Given the description of an element on the screen output the (x, y) to click on. 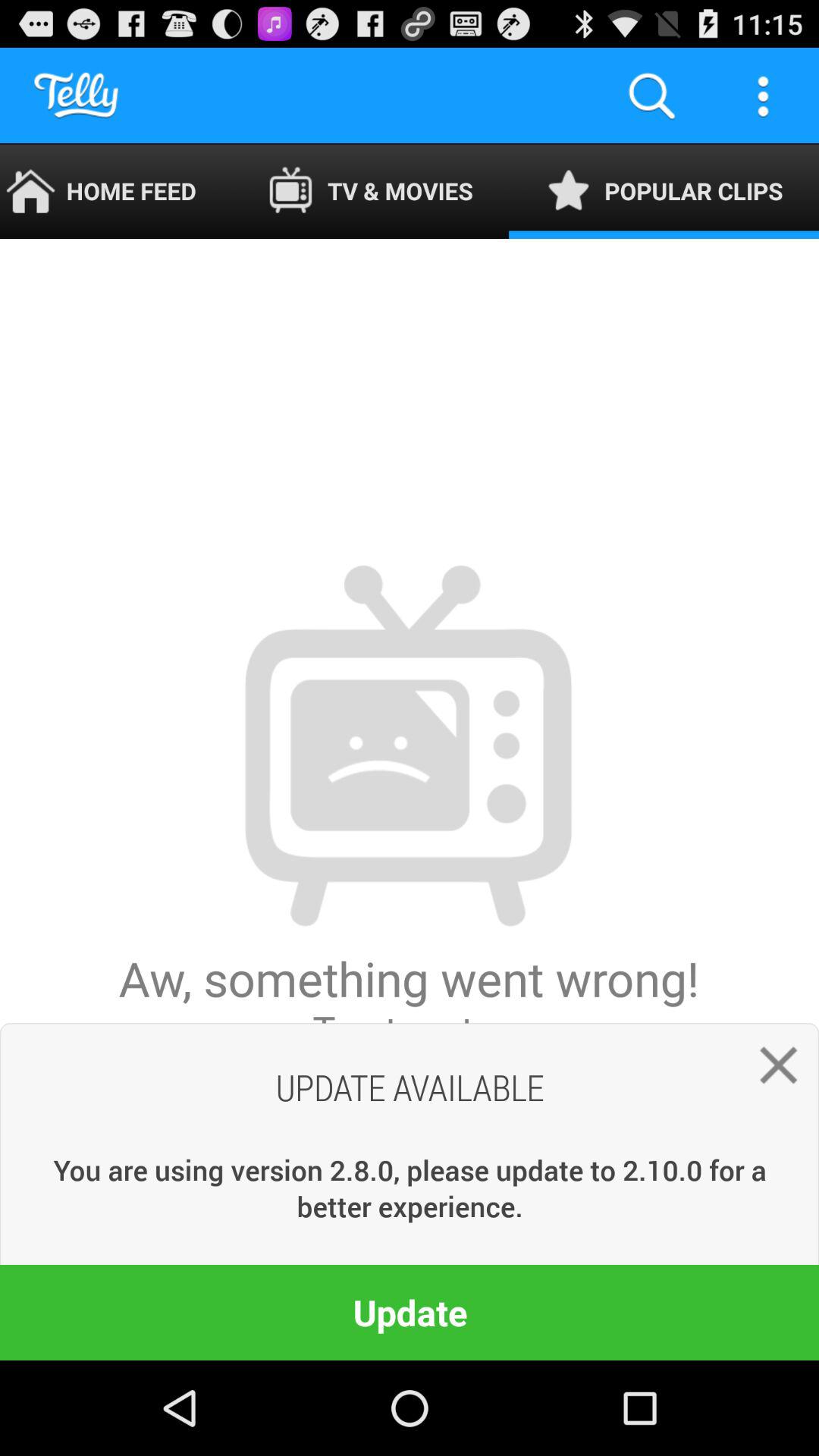
press the item below the popular clips icon (771, 1070)
